Given the description of an element on the screen output the (x, y) to click on. 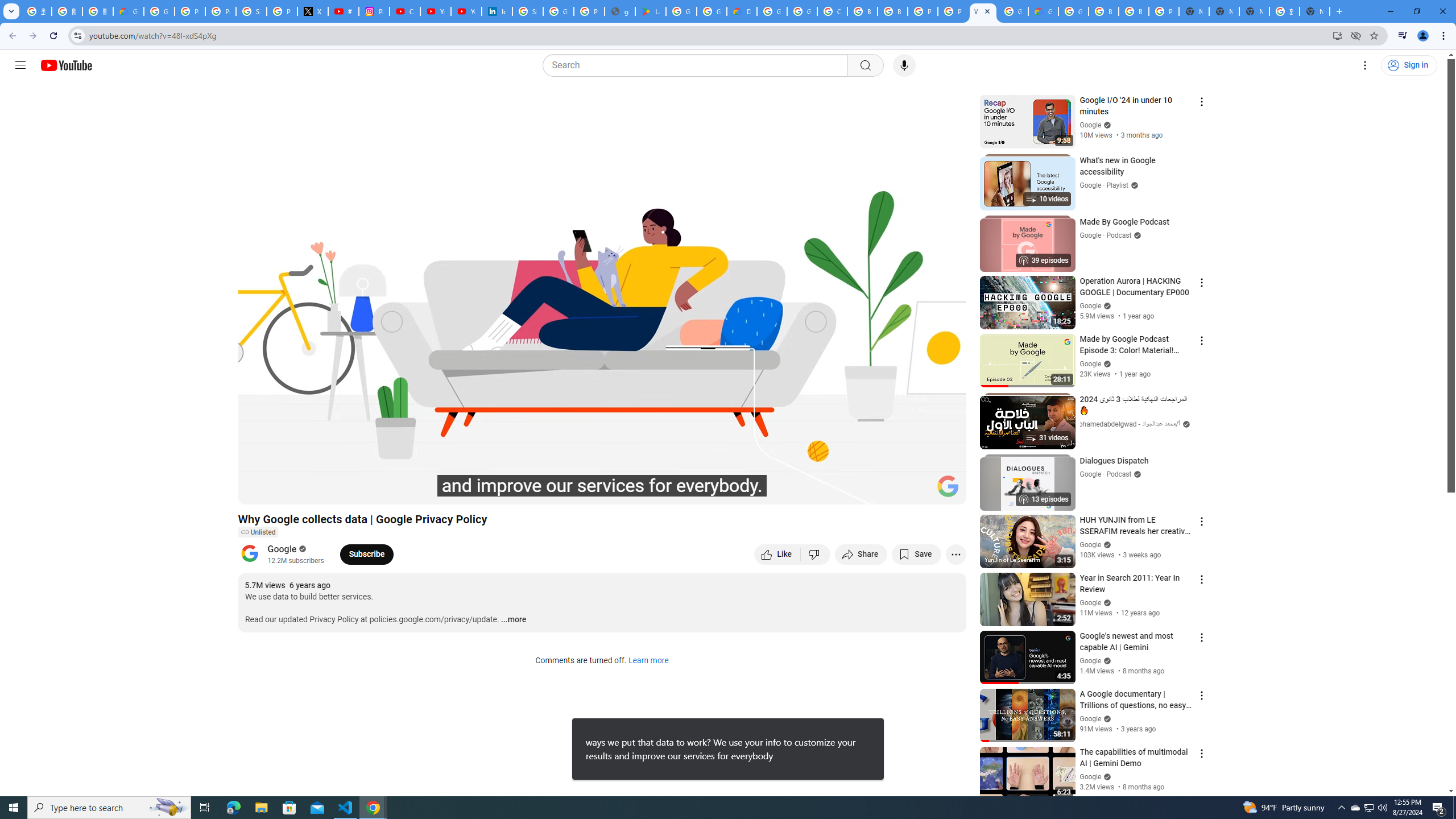
Browse Chrome as a guest - Computer - Google Chrome Help (1133, 11)
Save to playlist (915, 554)
Browse Chrome as a guest - Computer - Google Chrome Help (862, 11)
Google Cloud Estimate Summary (1042, 11)
Google Workspace - Specific Terms (711, 11)
